Given the description of an element on the screen output the (x, y) to click on. 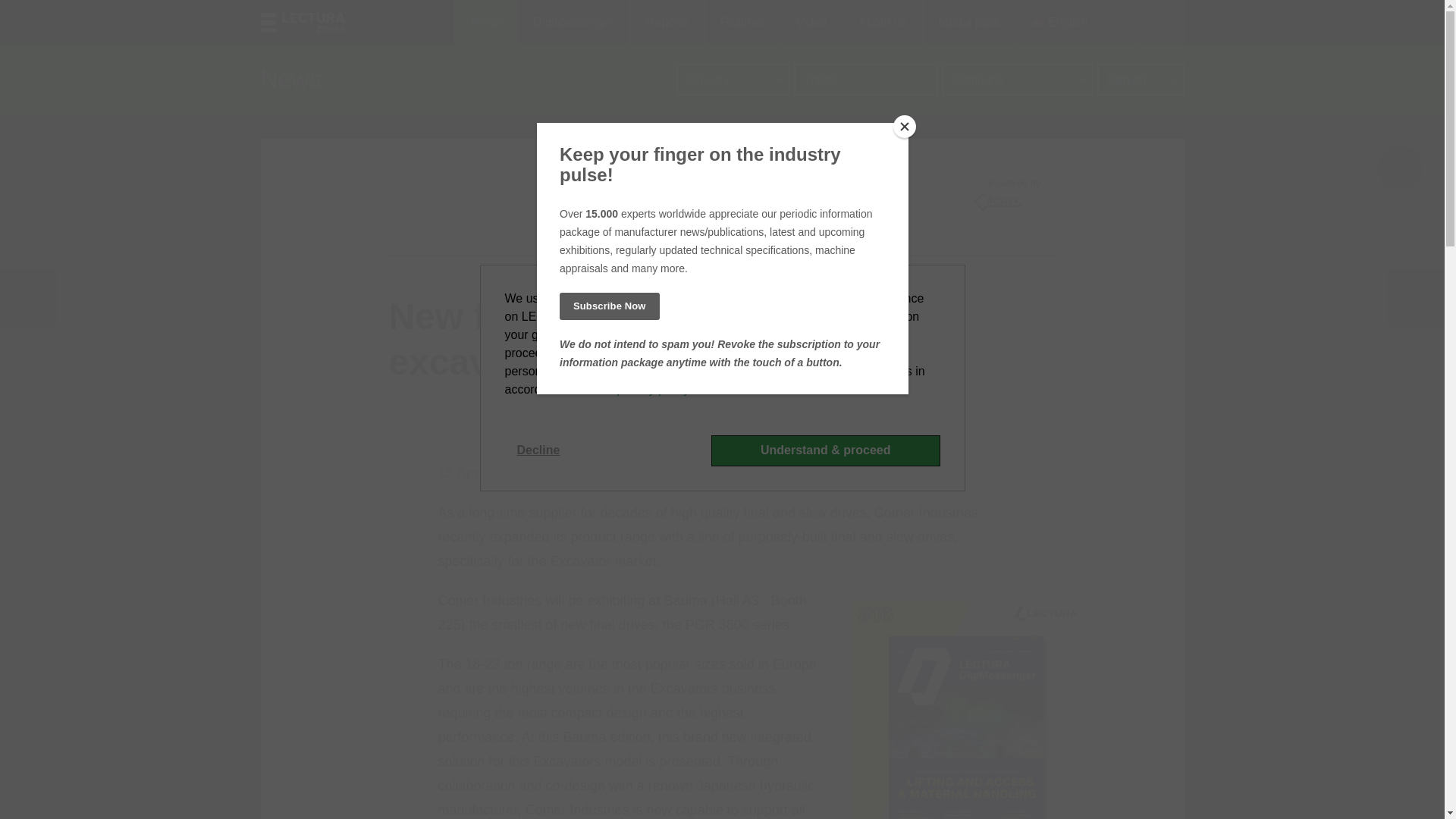
Pictures (740, 22)
About us (882, 22)
News (485, 22)
Reports (665, 22)
Media pack (968, 22)
English (1076, 22)
Video (810, 22)
DigiMessenger (572, 22)
